Given the description of an element on the screen output the (x, y) to click on. 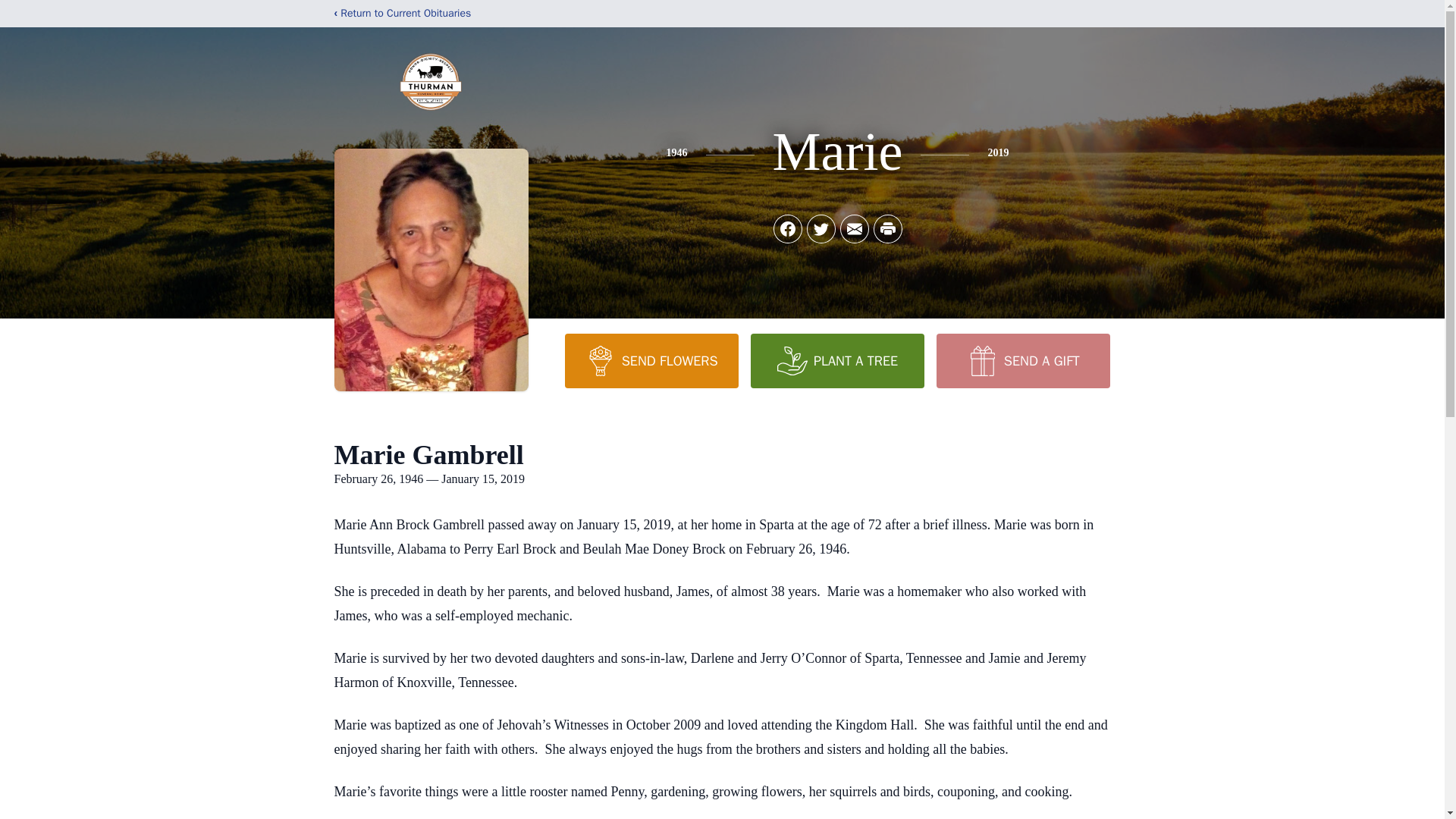
SEND FLOWERS (651, 360)
SEND A GIFT (1022, 360)
PLANT A TREE (837, 360)
